Given the description of an element on the screen output the (x, y) to click on. 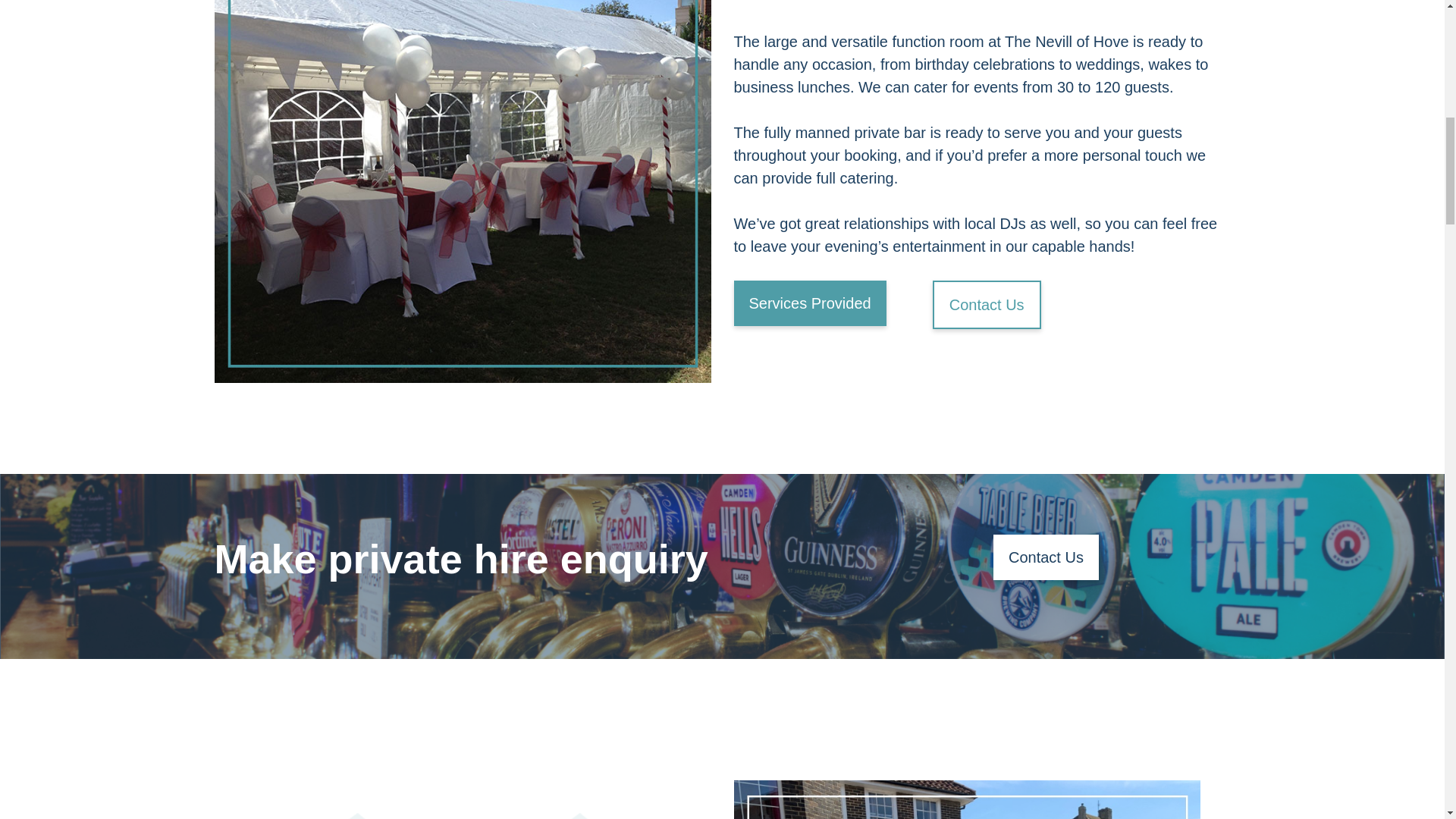
Contact Us (1045, 556)
Services Provided (809, 302)
Contact Us (987, 304)
